Given the description of an element on the screen output the (x, y) to click on. 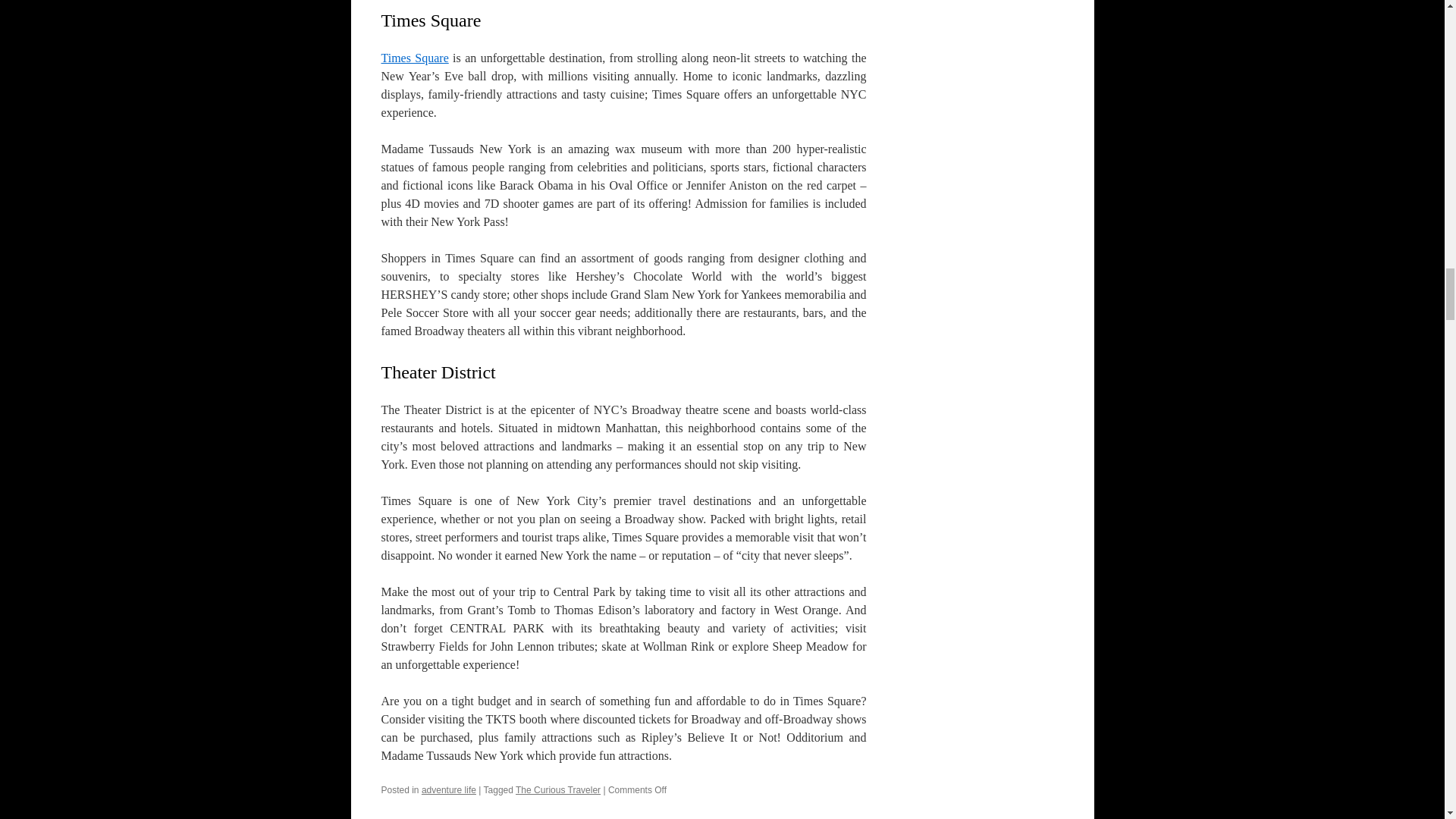
The Curious Traveler (557, 789)
adventure life (449, 789)
Times Square (414, 57)
